Given the description of an element on the screen output the (x, y) to click on. 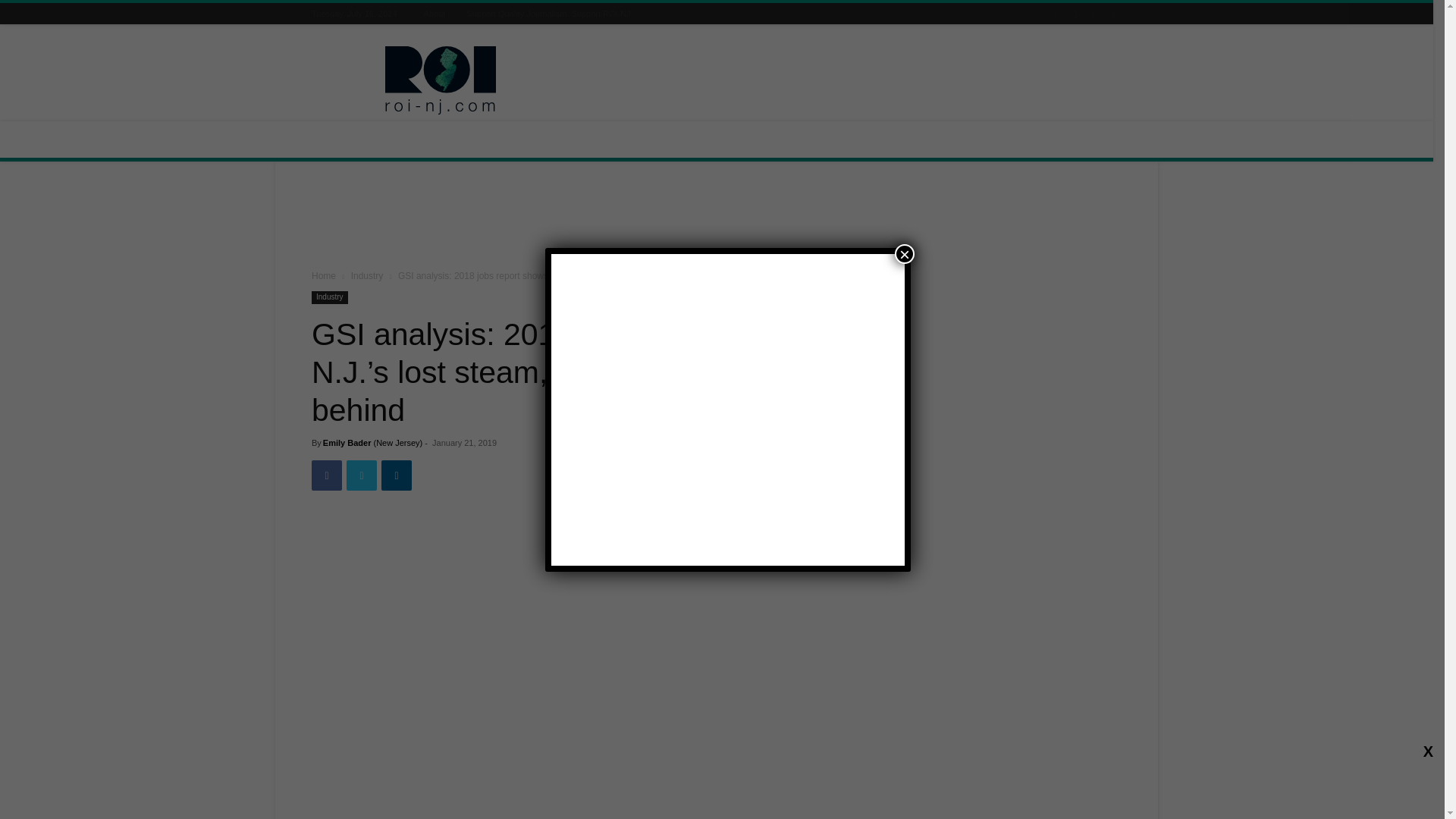
3rd party ad content (716, 218)
3rd party ad content (845, 79)
Instagram (1075, 14)
Linkedin (1094, 14)
Linkedin (396, 475)
Twitter (361, 475)
View all posts in Industry (367, 276)
Facebook (326, 475)
Facebook (1056, 14)
Twitter (1113, 14)
